Given the description of an element on the screen output the (x, y) to click on. 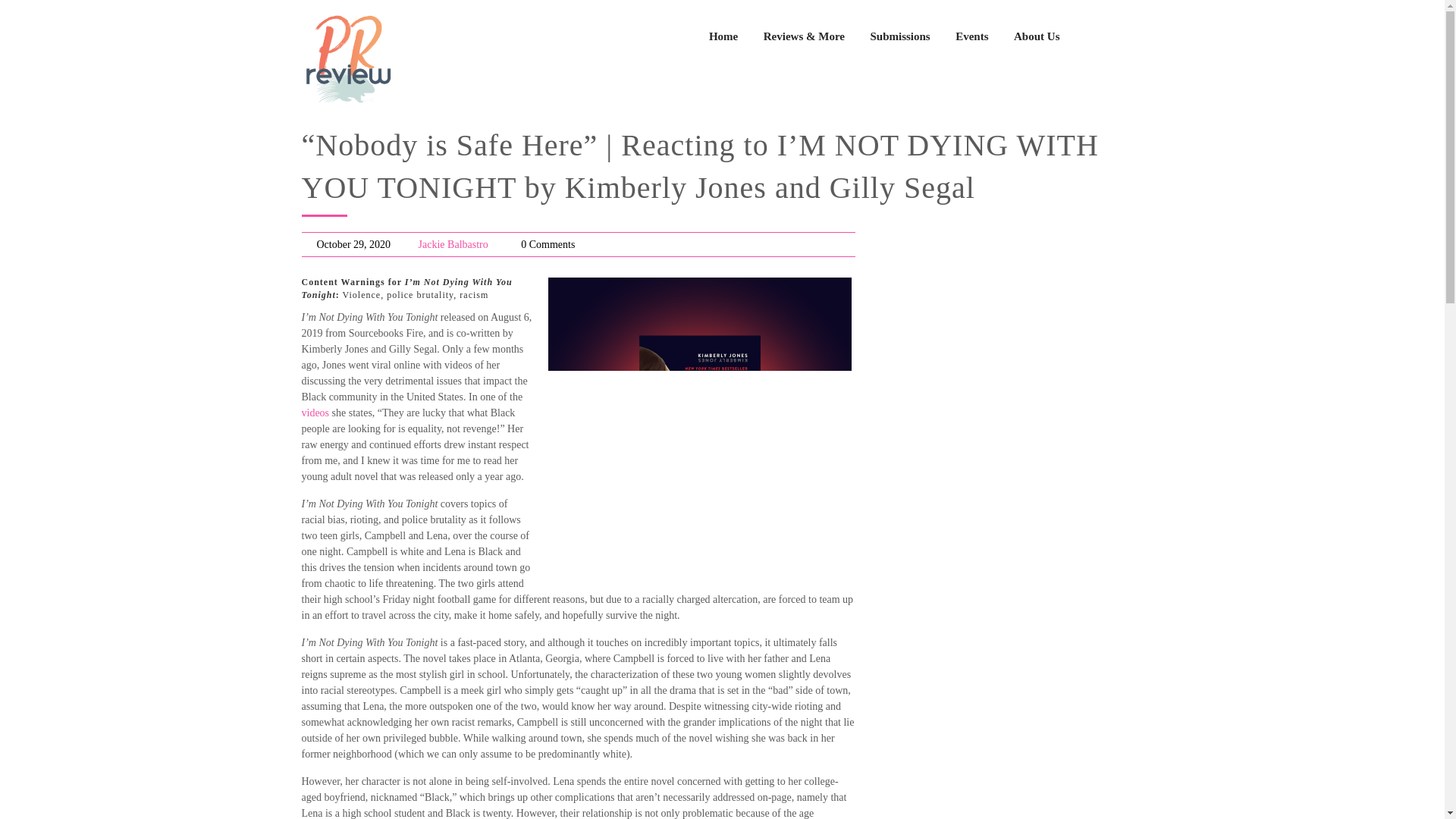
Events (971, 36)
videos (315, 412)
About Us (1036, 36)
Submissions (899, 36)
Home (723, 36)
Jackie Balbastro (453, 244)
